Given the description of an element on the screen output the (x, y) to click on. 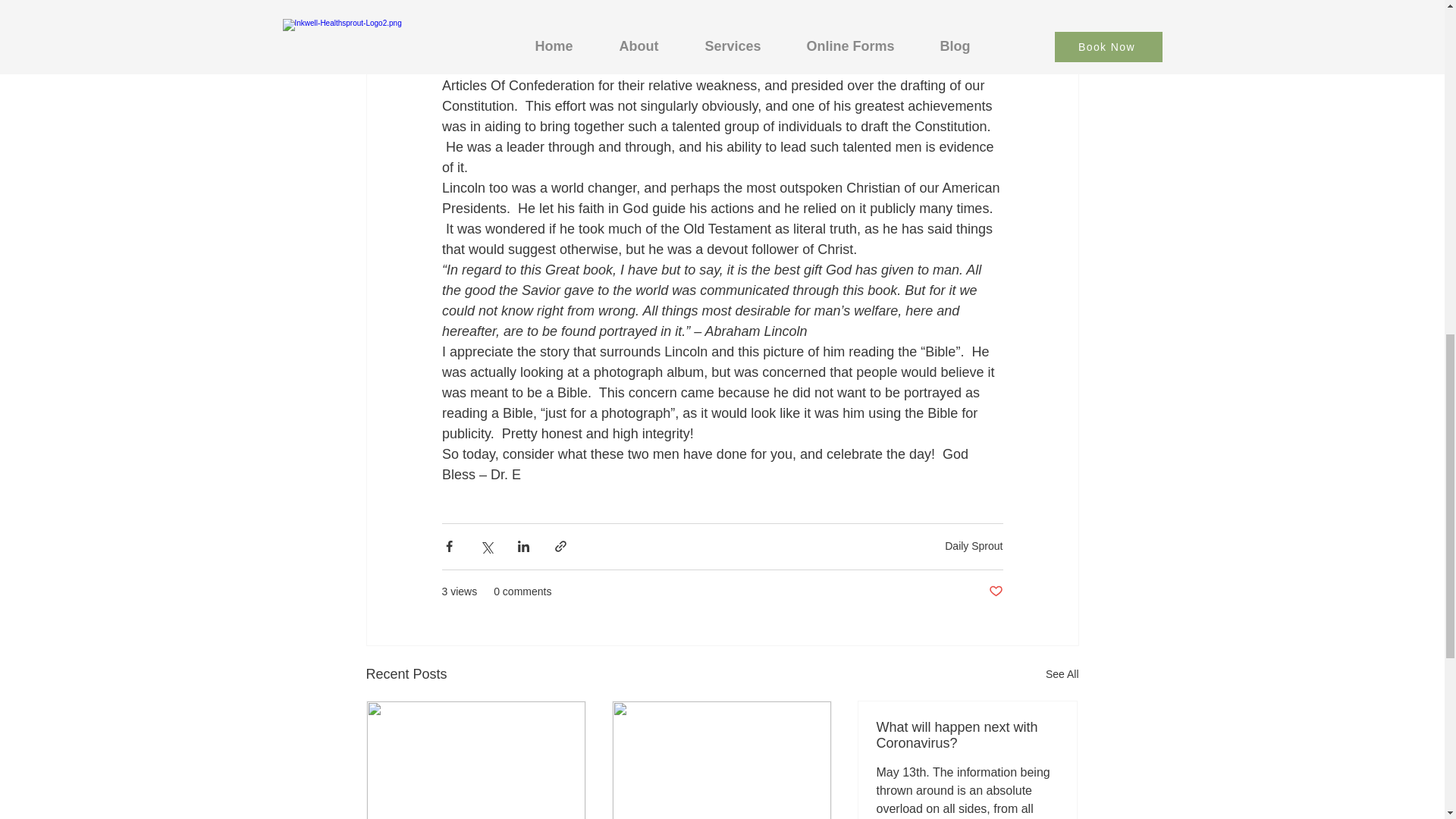
See All (1061, 674)
Daily Sprout (973, 545)
Post not marked as liked (995, 591)
